Given the description of an element on the screen output the (x, y) to click on. 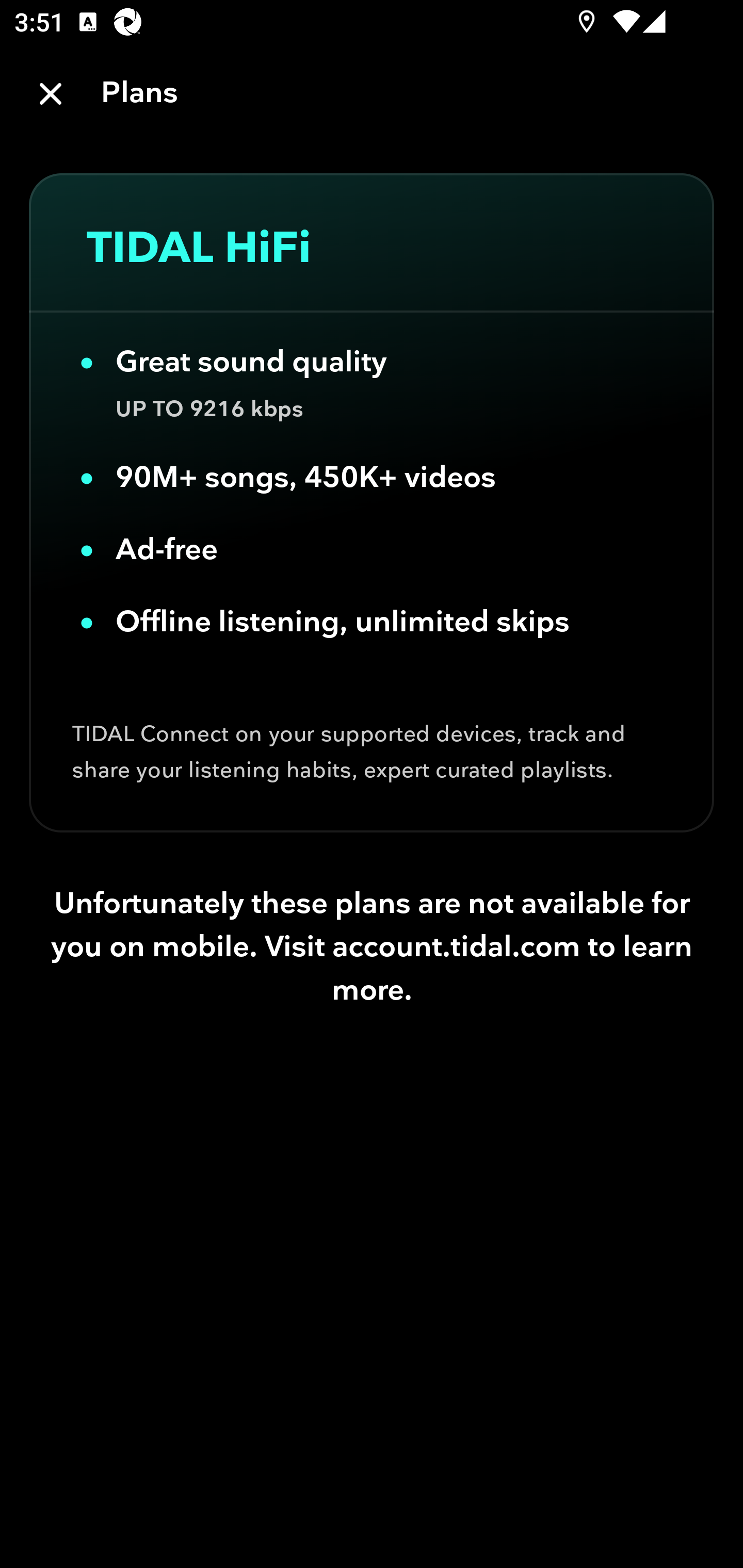
Close (50, 93)
